Given the description of an element on the screen output the (x, y) to click on. 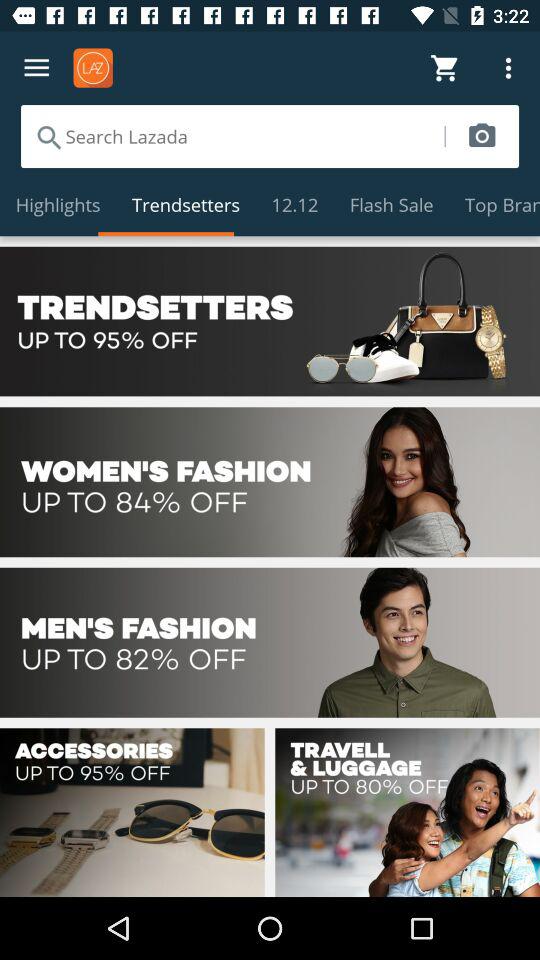
open the menu (36, 68)
